Given the description of an element on the screen output the (x, y) to click on. 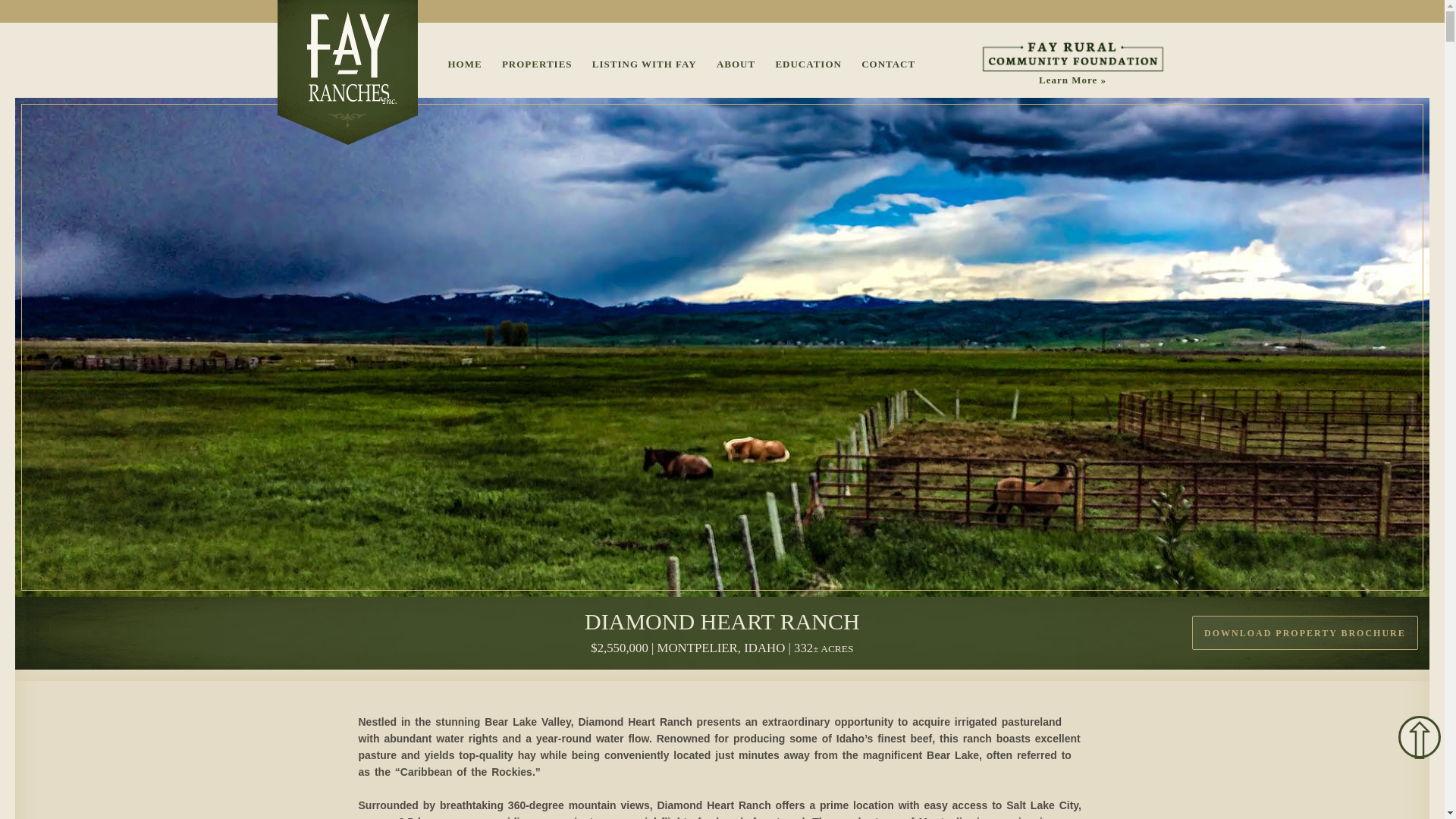
PROPERTIES (537, 63)
Ranches For Sale (537, 63)
HOME (463, 63)
Back to Top (1419, 736)
